Given the description of an element on the screen output the (x, y) to click on. 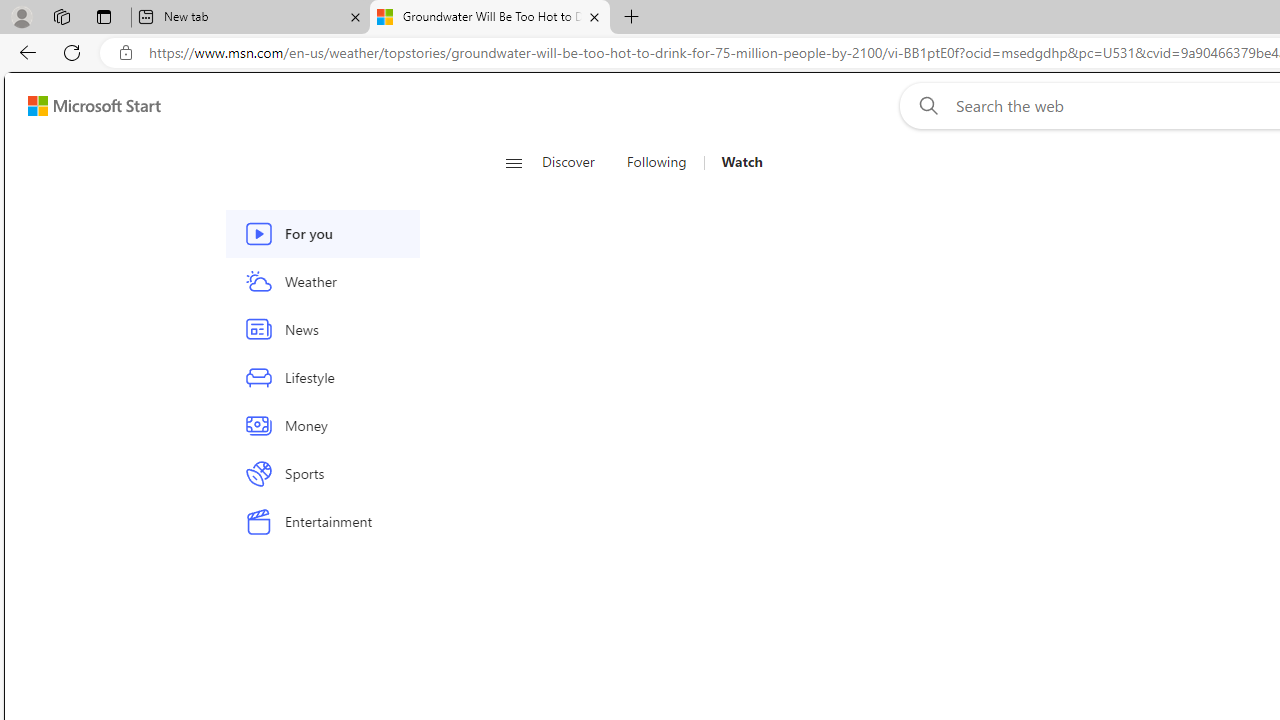
Class: button-glyph (513, 162)
